Given the description of an element on the screen output the (x, y) to click on. 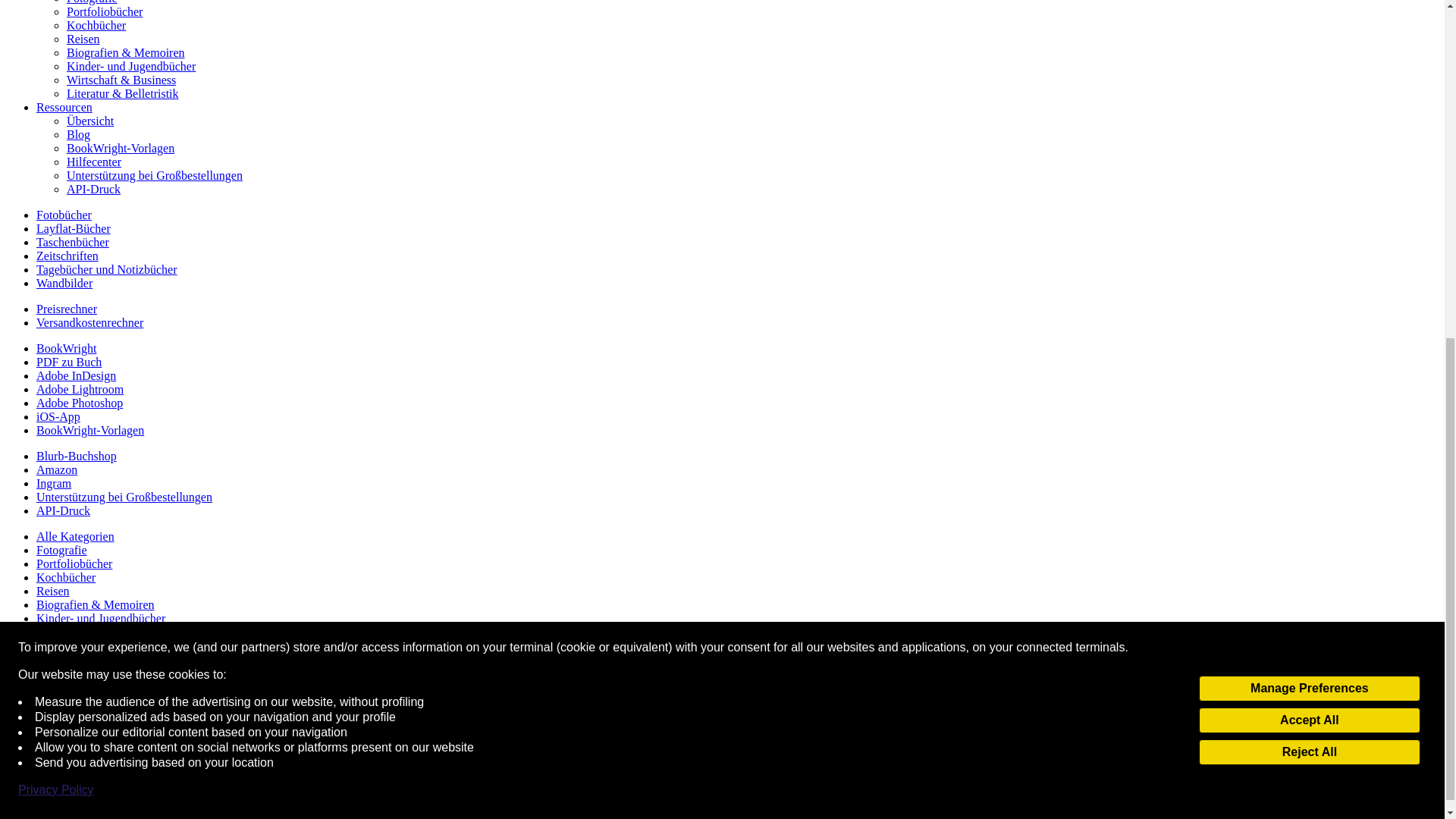
Reject All (1309, 171)
Fotografie (91, 2)
Manage Preferences (1309, 108)
Accept All (1309, 140)
Privacy Policy (55, 209)
